Given the description of an element on the screen output the (x, y) to click on. 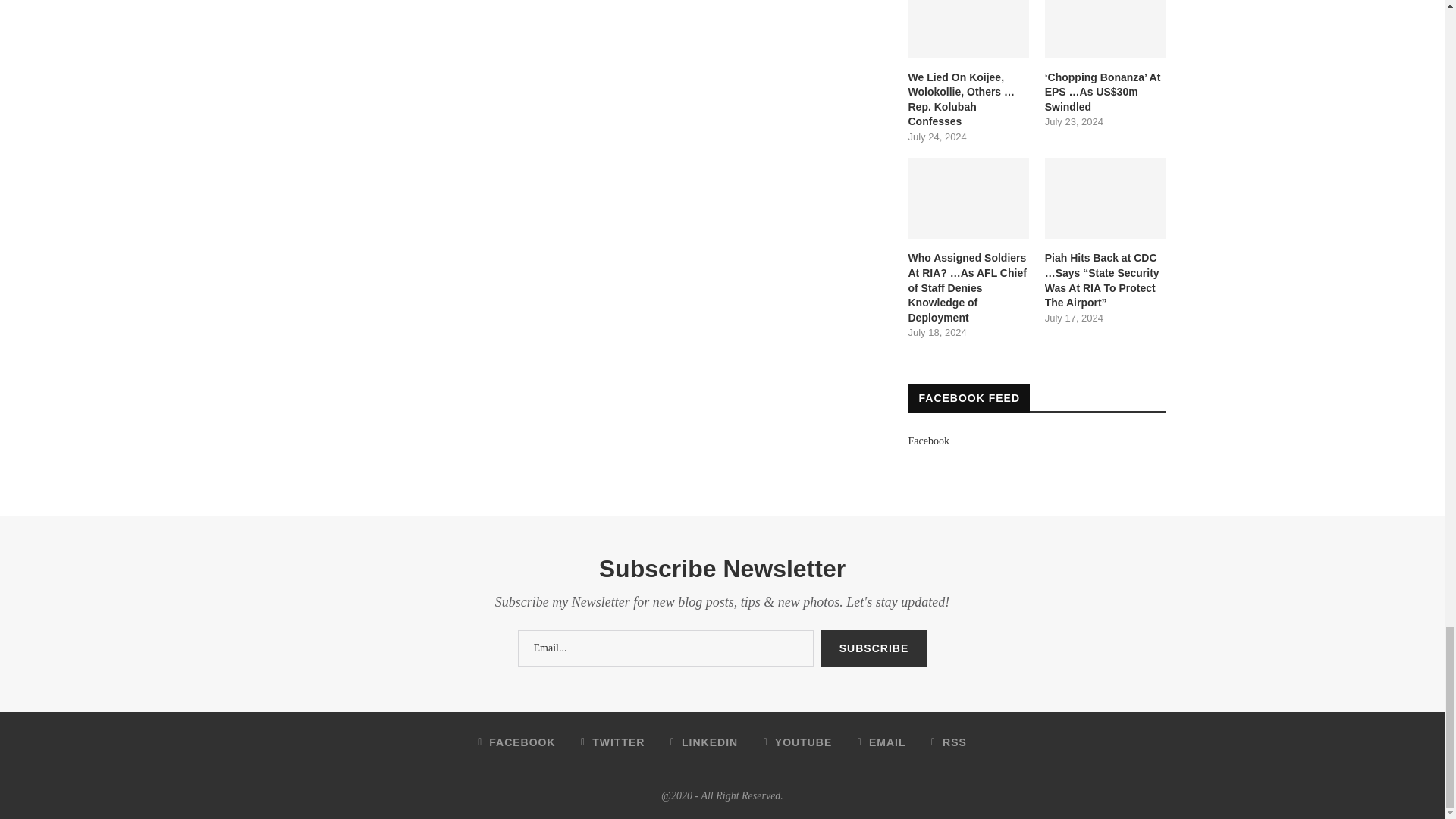
Subscribe (873, 647)
